Given the description of an element on the screen output the (x, y) to click on. 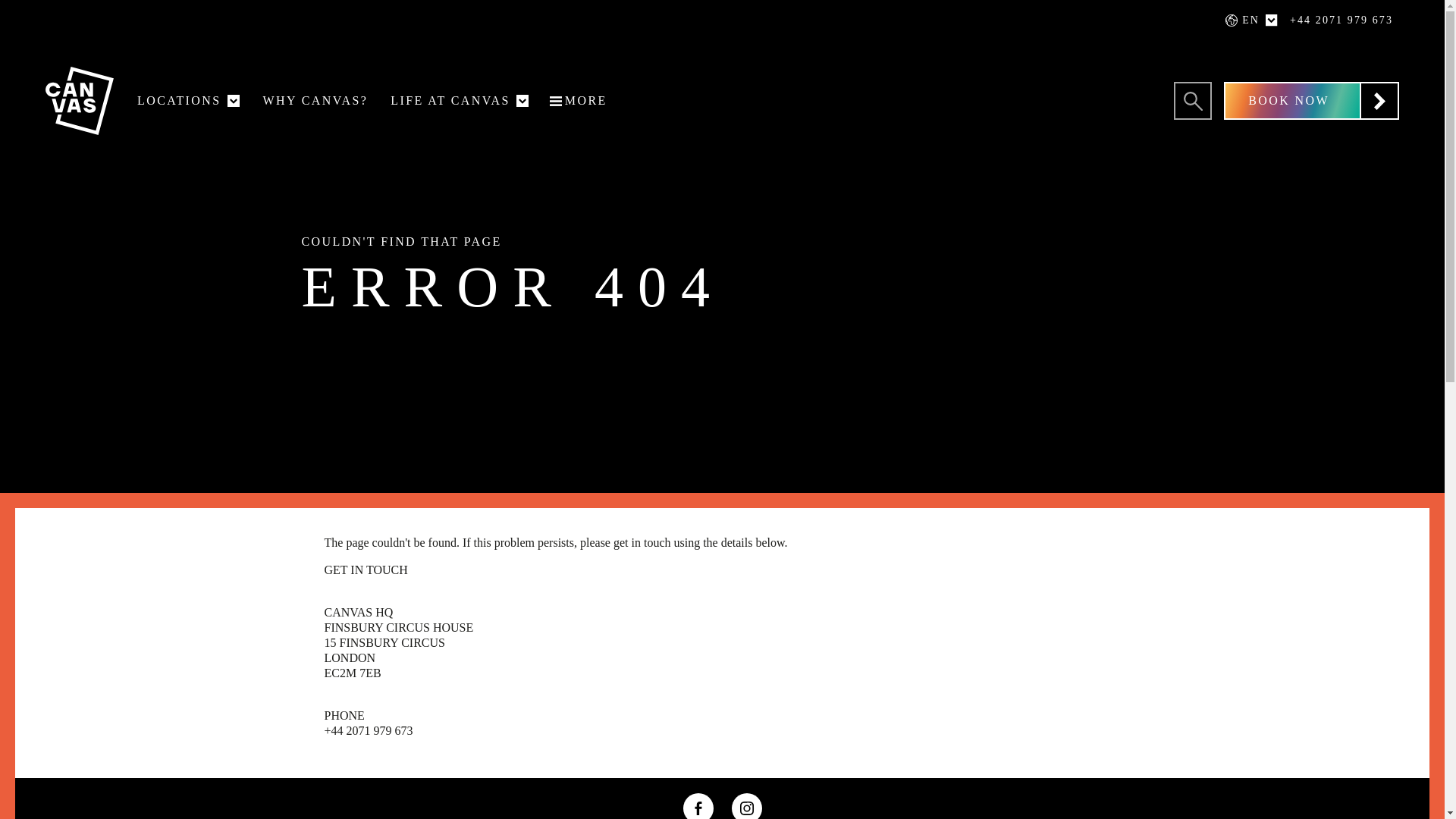
WHY CANVAS? (315, 100)
FR (1222, 58)
LIFE AT CANVAS (465, 137)
Phone Canvas (1341, 19)
CONTACT US (509, 141)
LIFE AT CANVAS (452, 100)
MORE (579, 100)
LOCATIONS (182, 100)
Search (1192, 100)
EN (1246, 19)
